Given the description of an element on the screen output the (x, y) to click on. 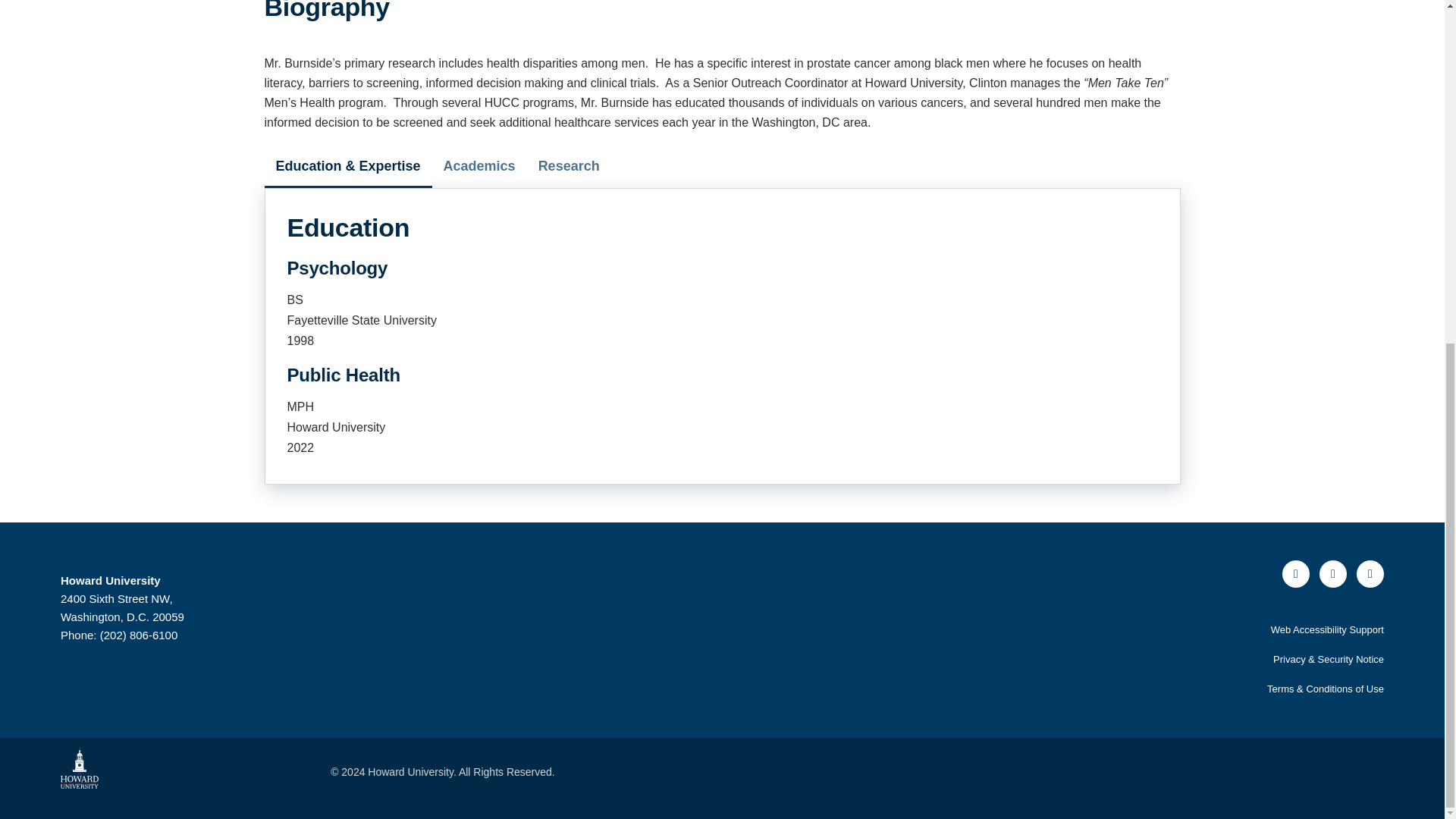
Research (569, 166)
Web Accessibility Support (1327, 629)
Web Accessibility Support (1327, 629)
Facebook (1295, 574)
Instagram (1370, 574)
Twitter (1332, 574)
Academics (479, 166)
